Given the description of an element on the screen output the (x, y) to click on. 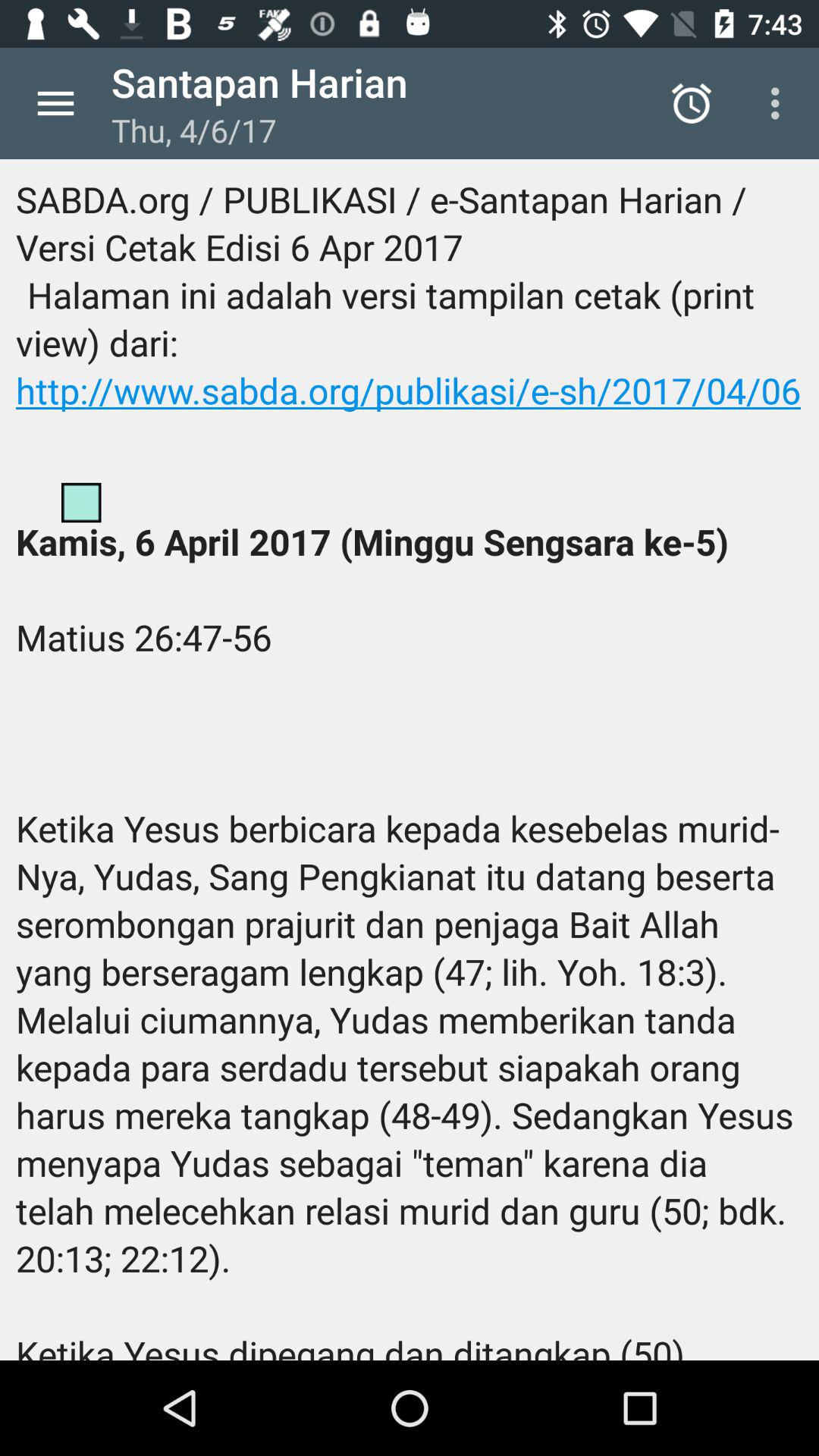
press item next to the santapan harian item (691, 103)
